Given the description of an element on the screen output the (x, y) to click on. 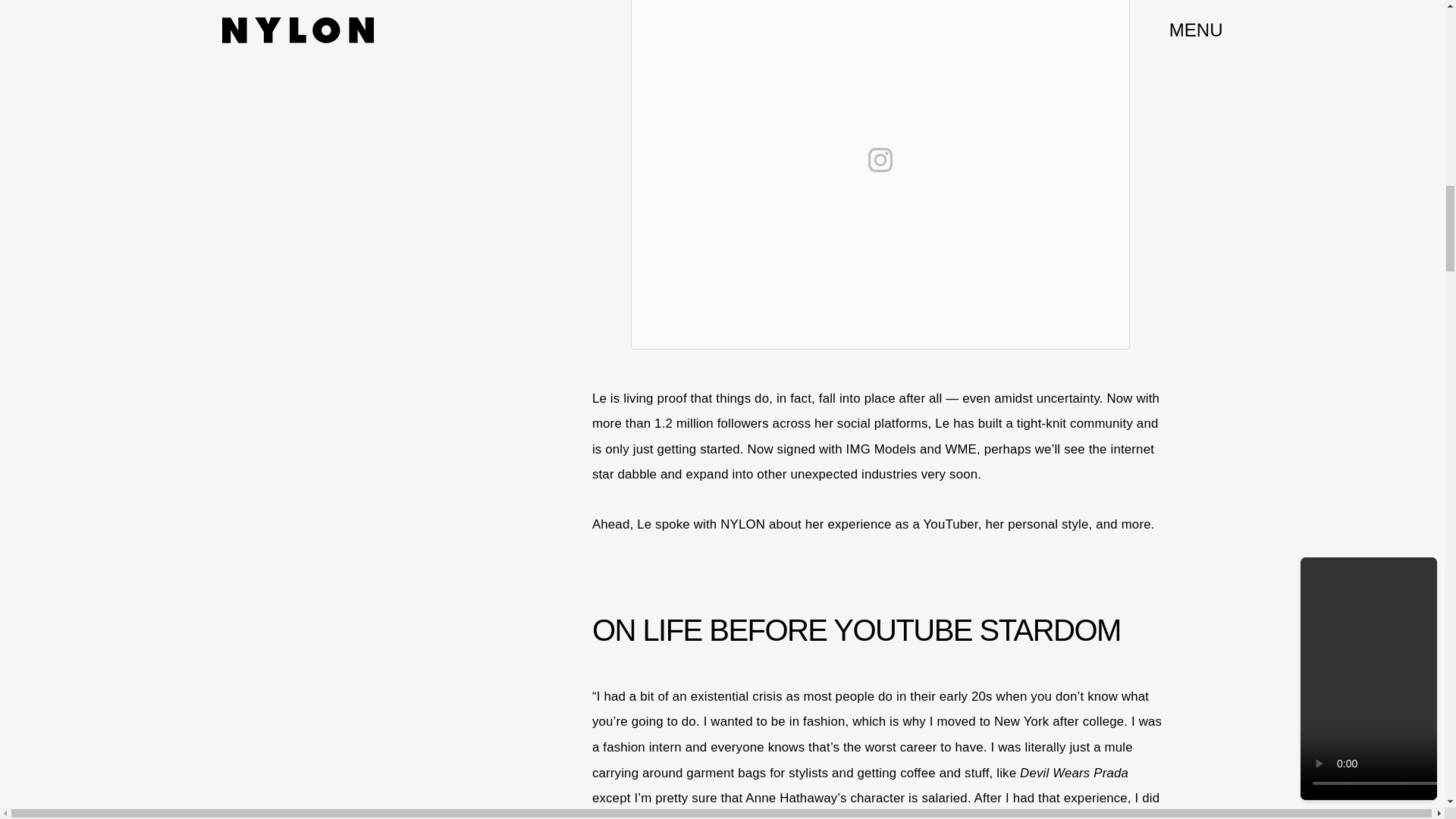
View on Instagram (879, 159)
